Given the description of an element on the screen output the (x, y) to click on. 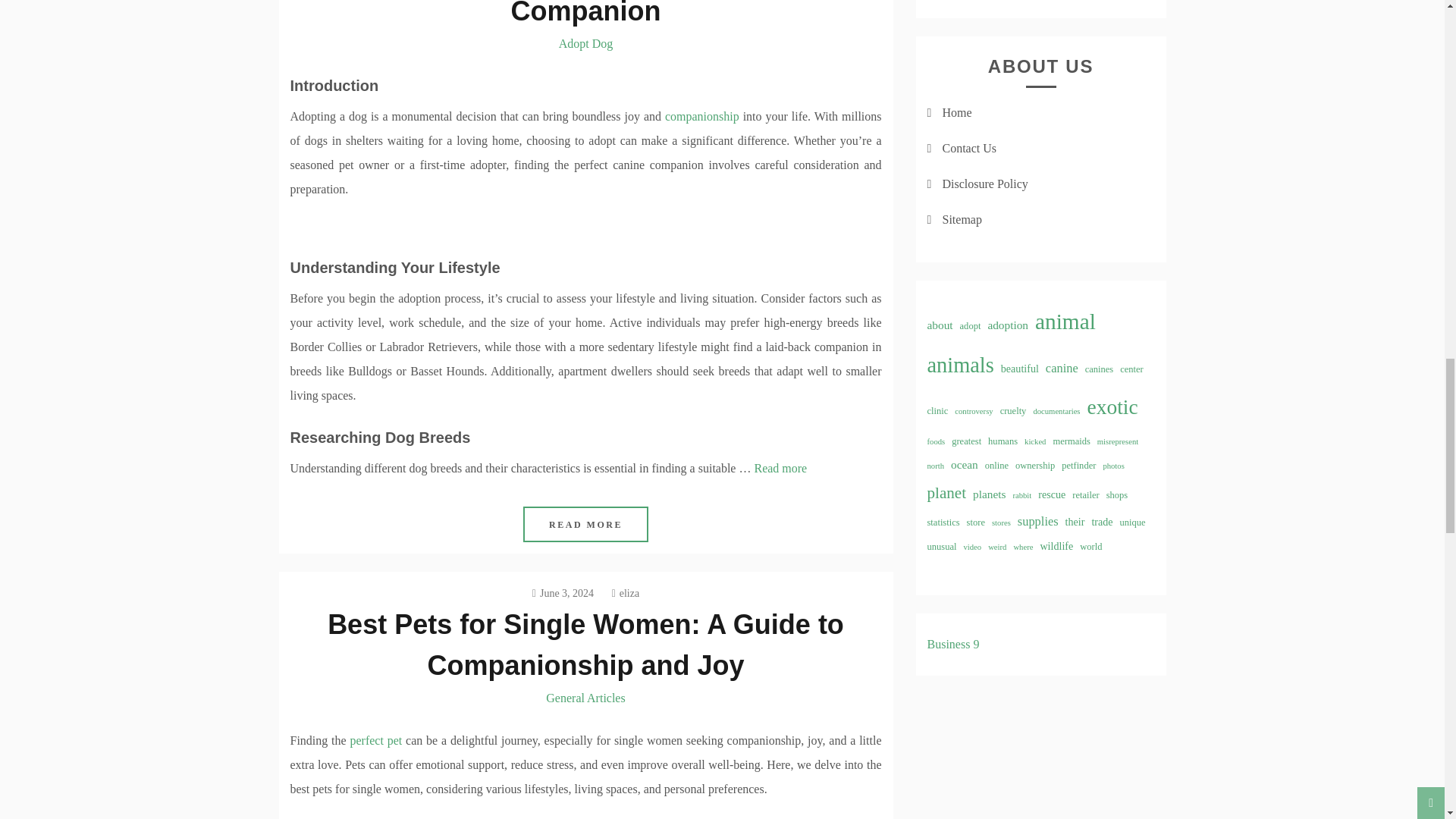
companionship (702, 115)
Adopt a Dog: Find Your Perfect Furry Companion (586, 13)
Read more (780, 468)
Adopt Dog (585, 42)
